Given the description of an element on the screen output the (x, y) to click on. 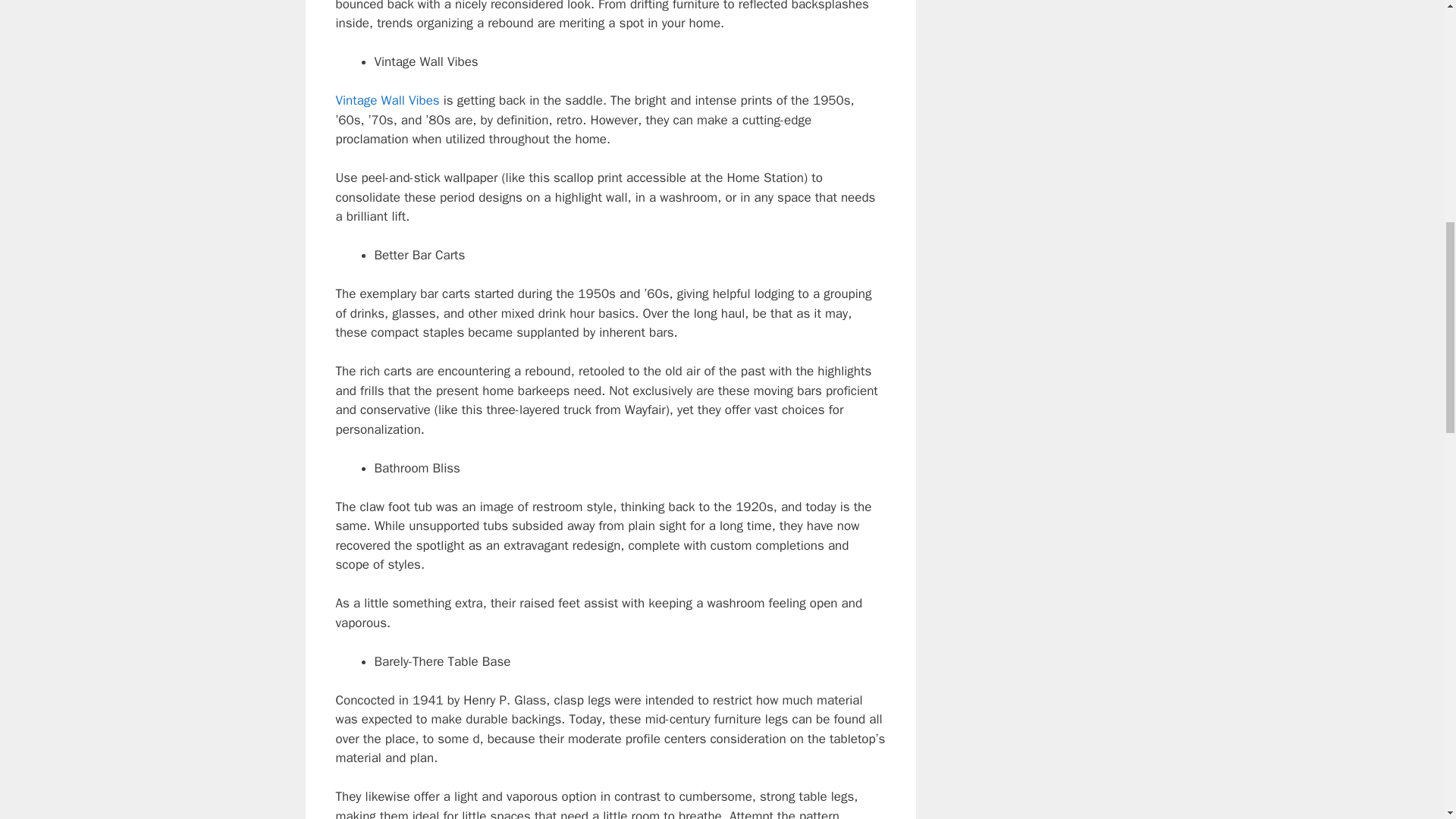
Vintage Wall Vibes (386, 100)
